Given the description of an element on the screen output the (x, y) to click on. 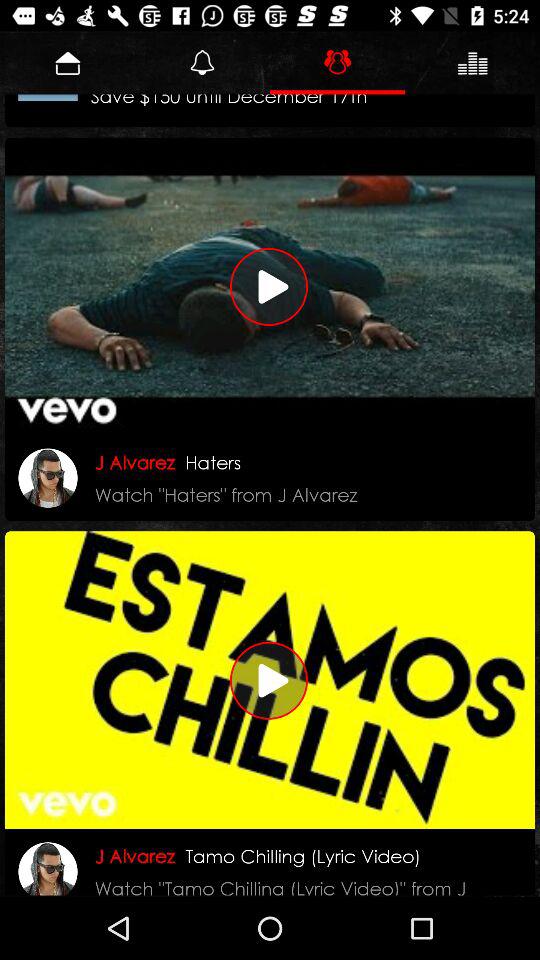
play video (269, 286)
